Given the description of an element on the screen output the (x, y) to click on. 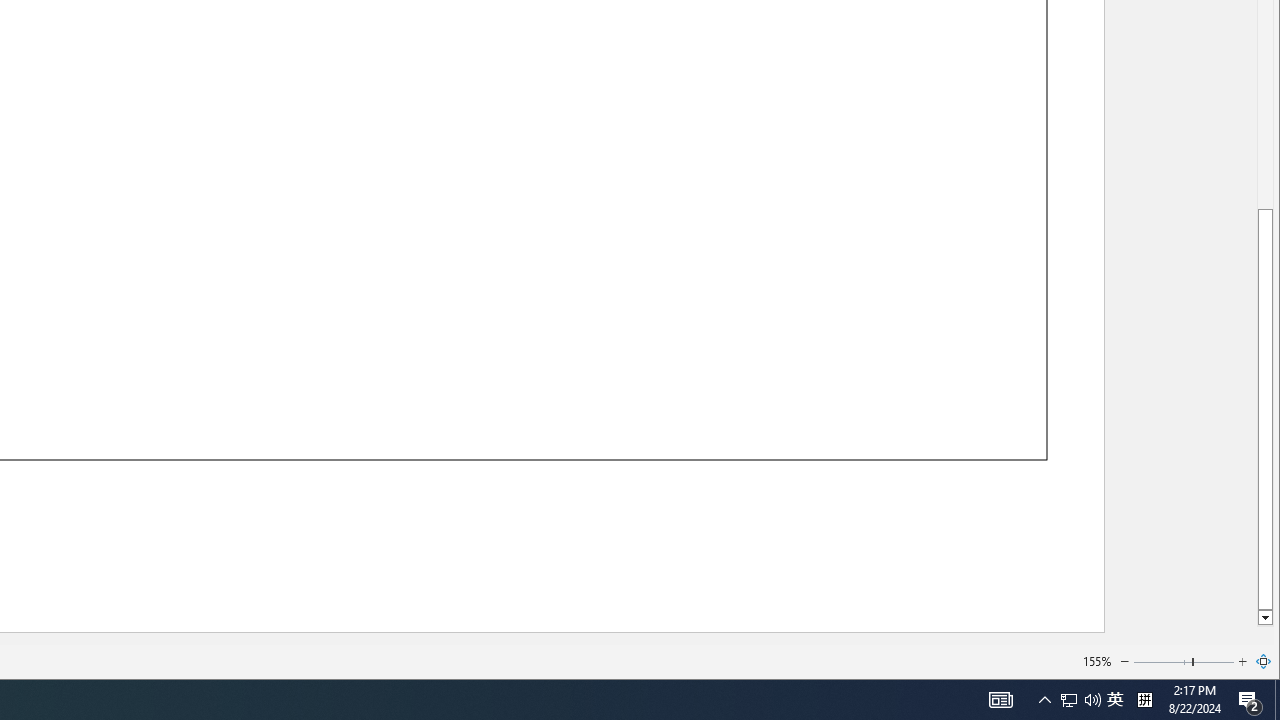
Line down (1264, 618)
Action Center, 2 new notifications (1250, 699)
